Given the description of an element on the screen output the (x, y) to click on. 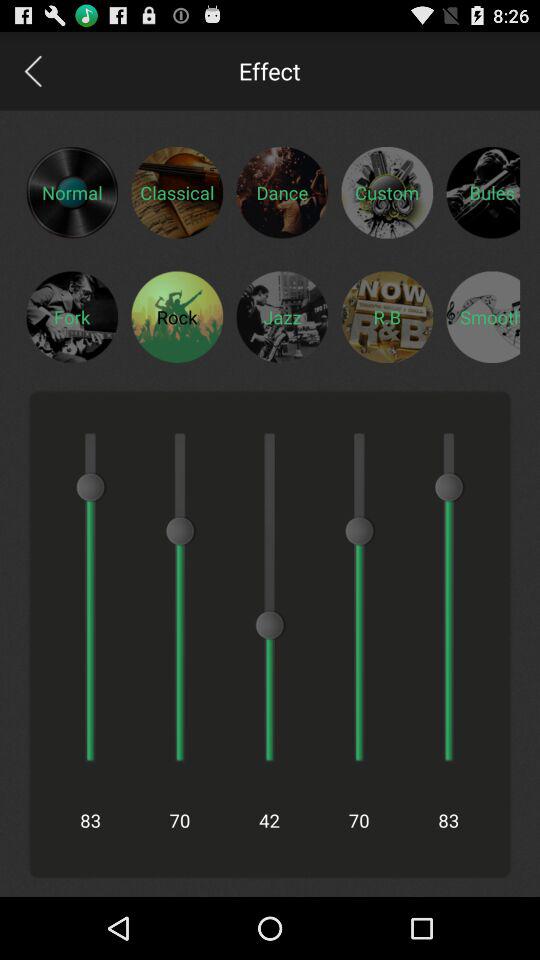
open the item to the left of the effect app (32, 70)
